Given the description of an element on the screen output the (x, y) to click on. 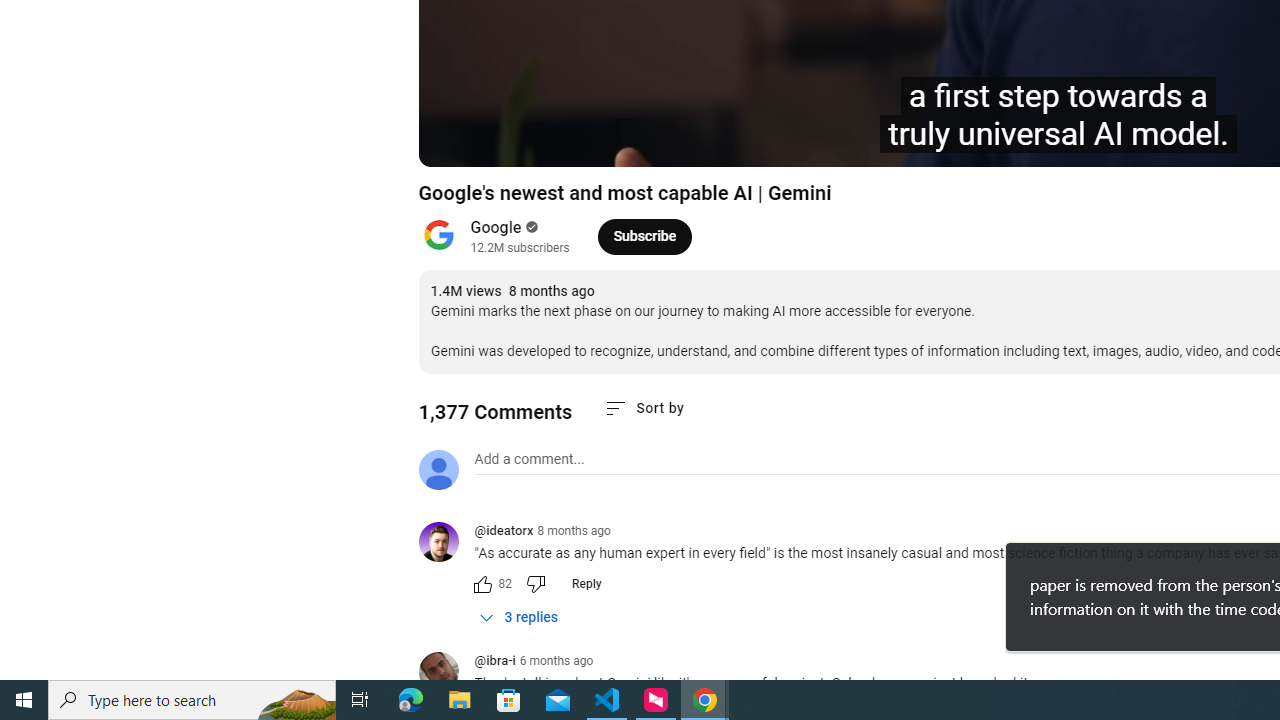
Next (SHIFT+n) (500, 142)
Default profile photo (438, 470)
AutomationID: simplebox-placeholder (528, 459)
@ibra-i (494, 661)
Dislike this comment (534, 583)
Sort comments (644, 408)
Reply (586, 583)
Mute keyboard shortcut m (548, 142)
Like this comment along with 82 other people (482, 583)
@ibra-i (446, 673)
@ideatorx (446, 543)
6 months ago (555, 661)
